Given the description of an element on the screen output the (x, y) to click on. 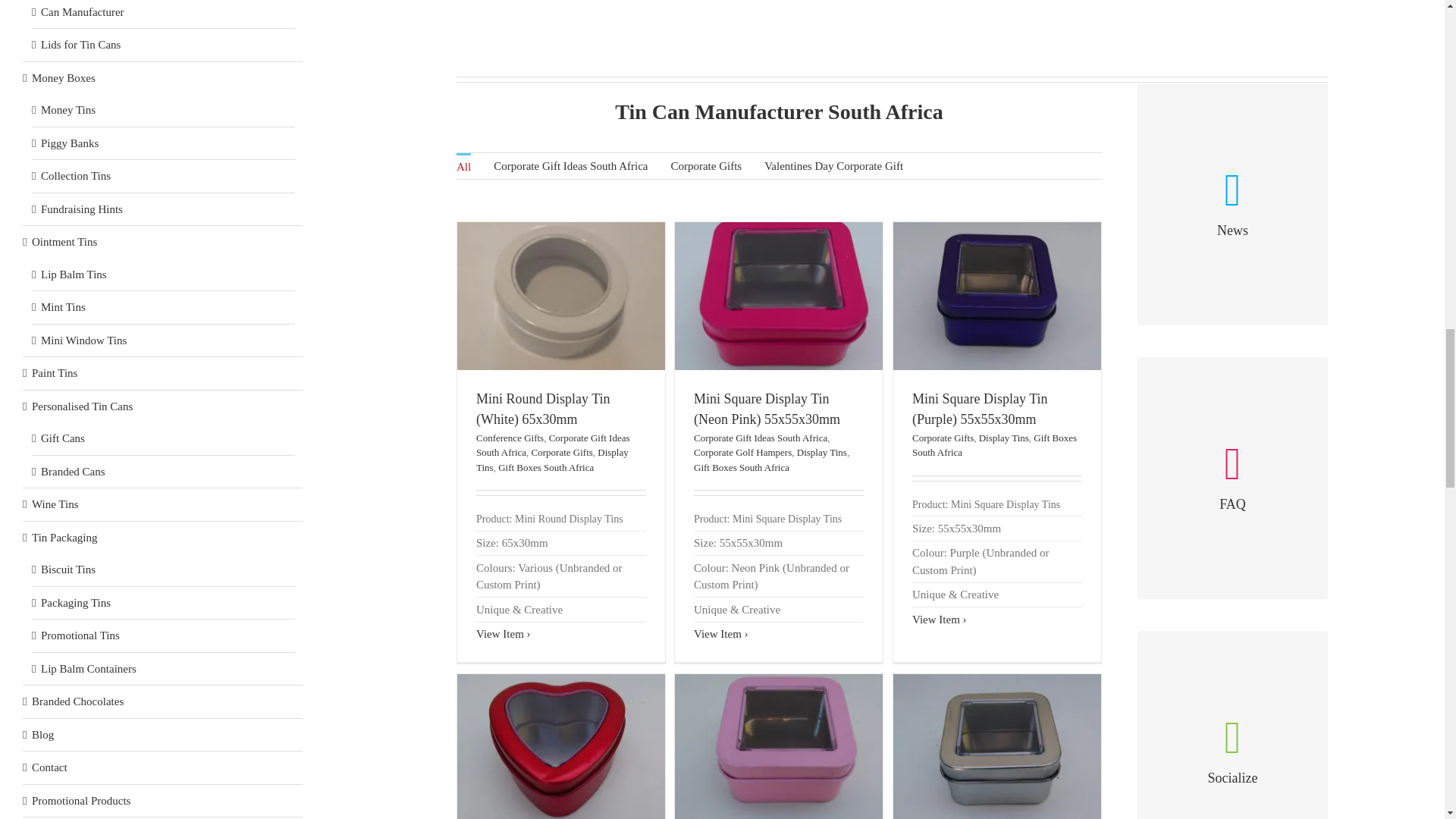
Branded Chocolates (892, 41)
